Given the description of an element on the screen output the (x, y) to click on. 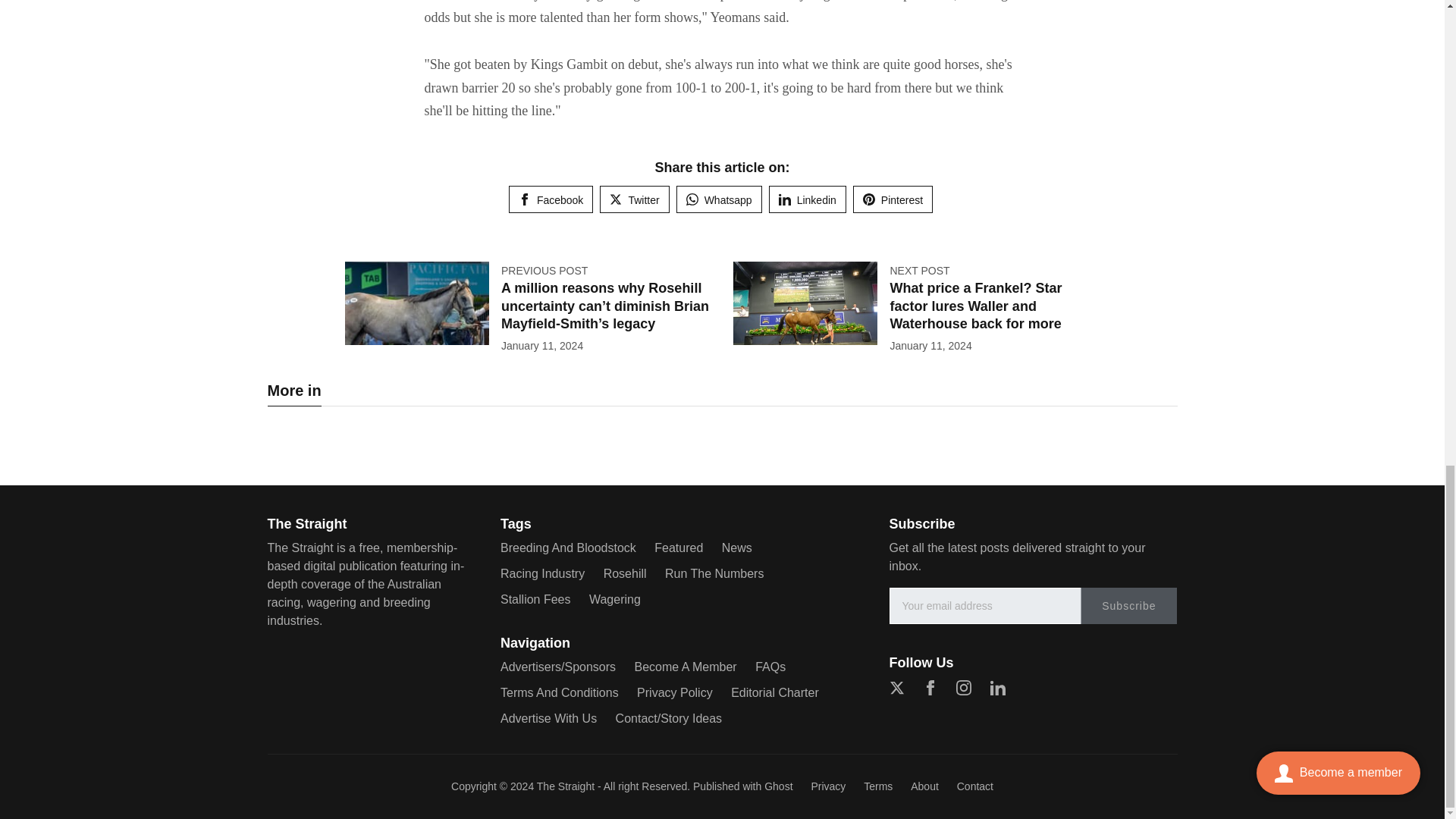
Linkedin (806, 198)
Breeding And Bloodstock (568, 547)
PREVIOUS POST (544, 270)
Share on Facebook (550, 198)
Share on Linkedin (806, 198)
11 January, 2024 (930, 345)
11 January, 2024 (541, 345)
Facebook (550, 198)
Pinterest (893, 198)
Share on Twitter (633, 198)
Share on Whatsapp (719, 198)
Featured (678, 547)
Whatsapp (719, 198)
Twitter (633, 198)
